Given the description of an element on the screen output the (x, y) to click on. 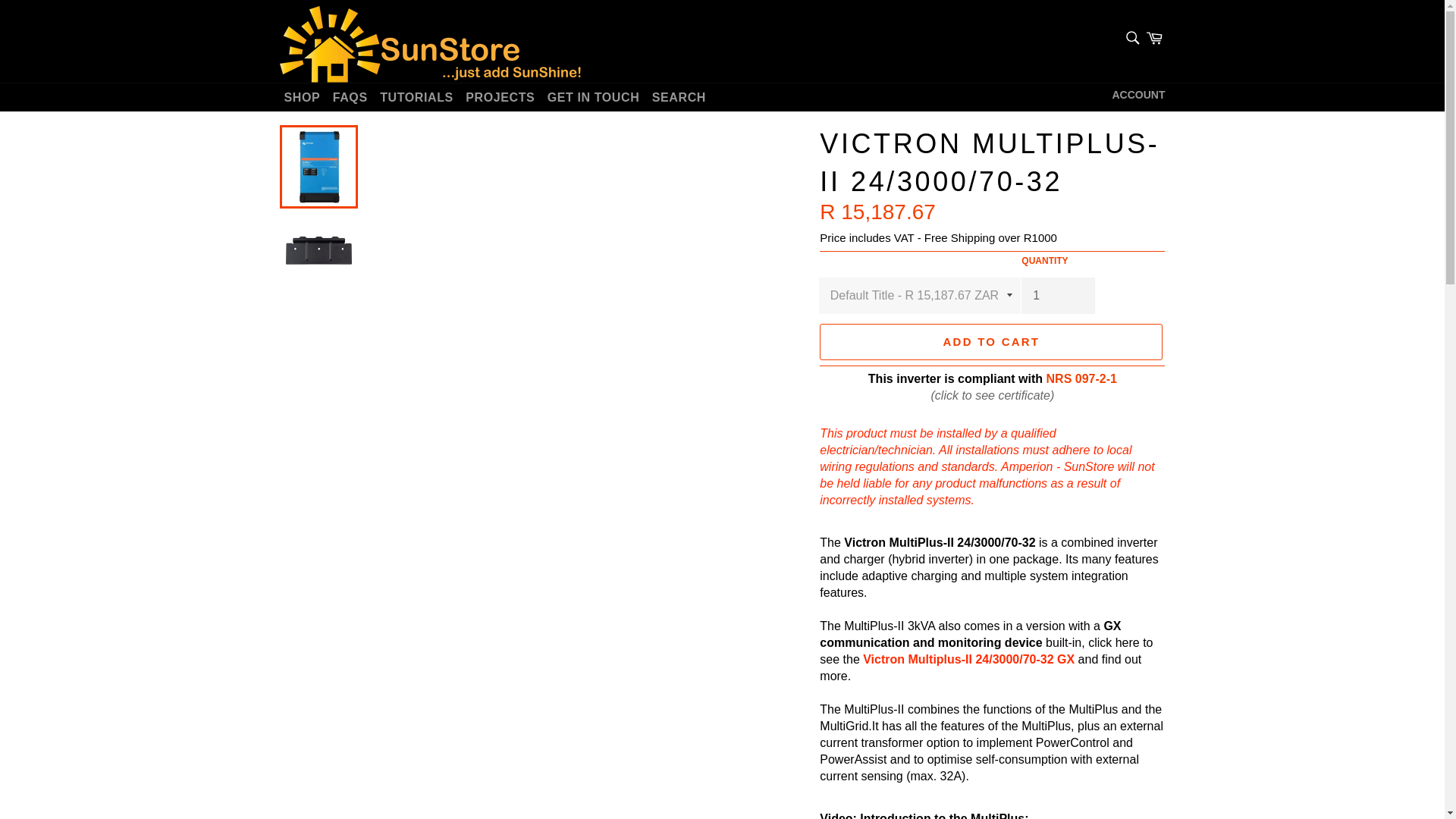
ACCOUNT (1138, 95)
SEARCH (678, 97)
ADD TO CART (990, 341)
1 (1058, 295)
PROJECTS (499, 97)
Search (1130, 37)
FAQS (350, 97)
NRS 097-2-1 (1081, 378)
GET IN TOUCH (594, 97)
TUTORIALS (416, 97)
SHOP (301, 97)
